Given the description of an element on the screen output the (x, y) to click on. 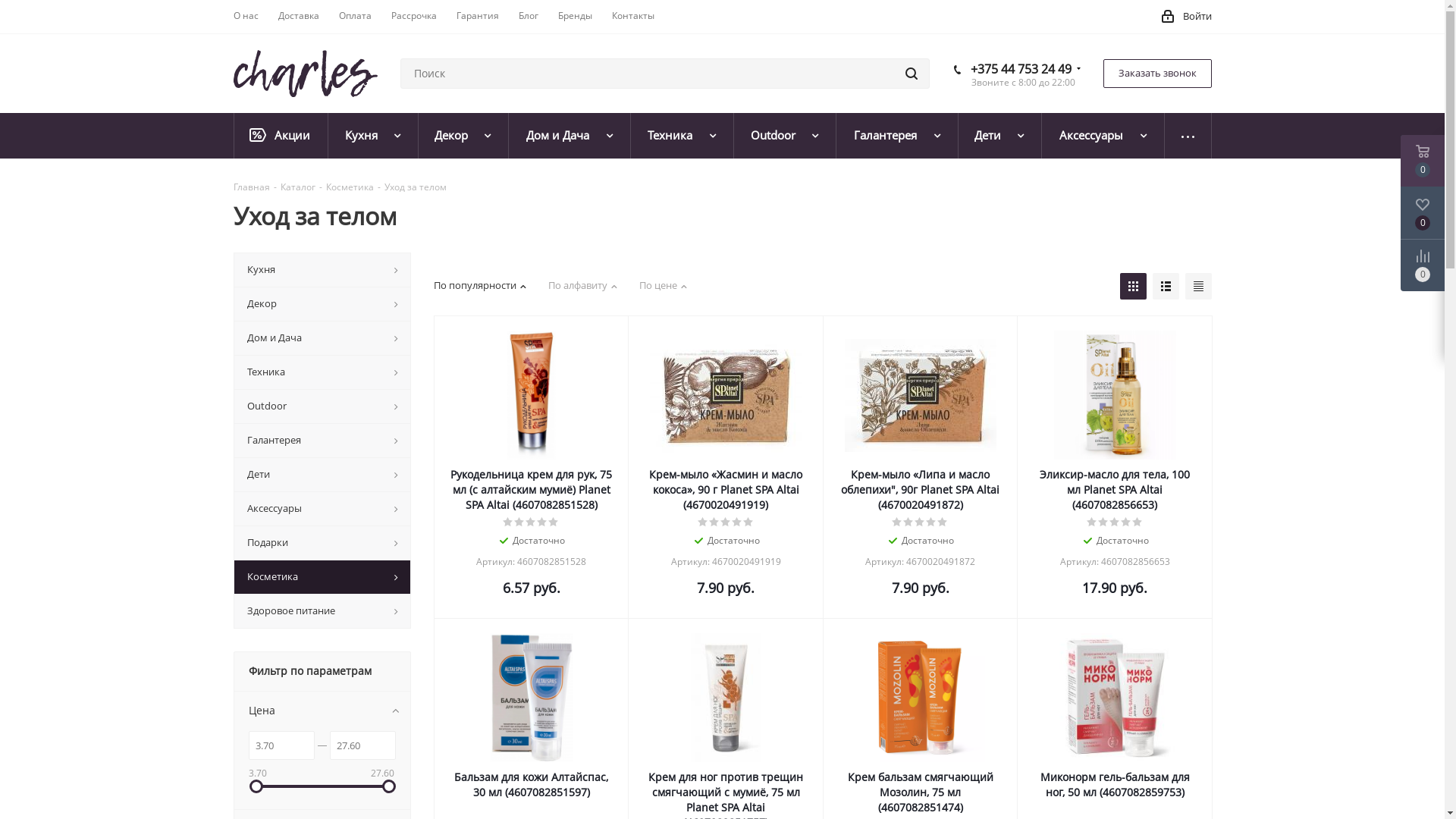
5 Element type: hover (1137, 522)
1 Element type: hover (897, 522)
4 Element type: hover (1126, 522)
3 Element type: hover (725, 522)
3 Element type: hover (1114, 522)
Outdoor Element type: text (785, 135)
5 Element type: hover (942, 522)
4 Element type: hover (542, 522)
Outdoor Element type: text (322, 406)
2 Element type: hover (1103, 522)
5 Element type: hover (553, 522)
2 Element type: hover (908, 522)
+375 44 753 24 49 Element type: text (1020, 68)
1 Element type: hover (1092, 522)
charles.by Element type: hover (305, 73)
4 Element type: hover (737, 522)
4 Element type: hover (931, 522)
1 Element type: hover (508, 522)
2 Element type: hover (519, 522)
3 Element type: hover (530, 522)
2 Element type: hover (714, 522)
1 Element type: hover (703, 522)
5 Element type: hover (748, 522)
3 Element type: hover (919, 522)
